Given the description of an element on the screen output the (x, y) to click on. 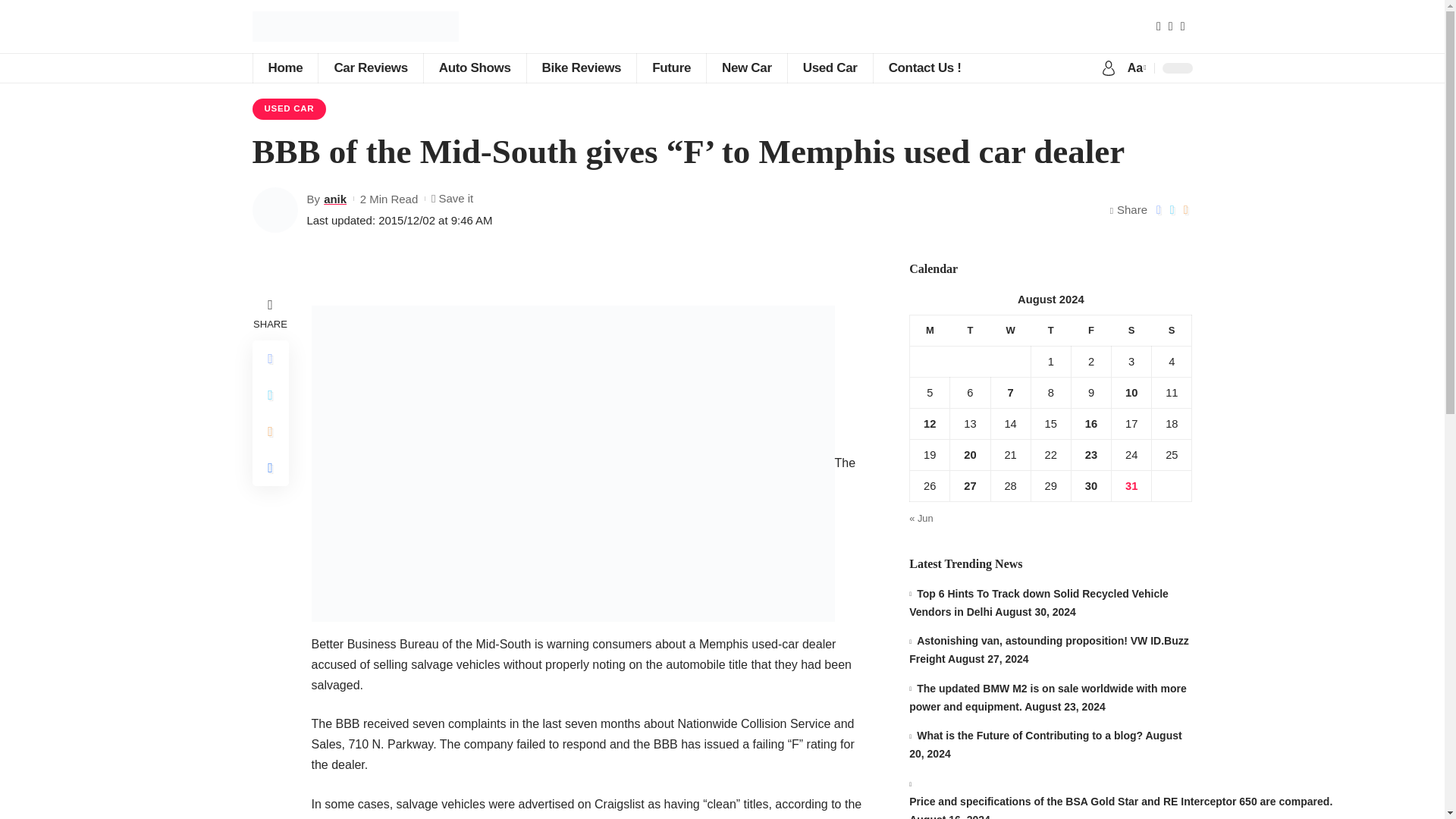
Monday (930, 329)
Aa (1135, 67)
Used Car (829, 68)
Saturday (1131, 329)
BeFirsTrank (354, 26)
Thursday (1050, 329)
Friday (1090, 329)
Wednesday (1010, 329)
Bike Reviews (581, 68)
New Car (746, 68)
